Given the description of an element on the screen output the (x, y) to click on. 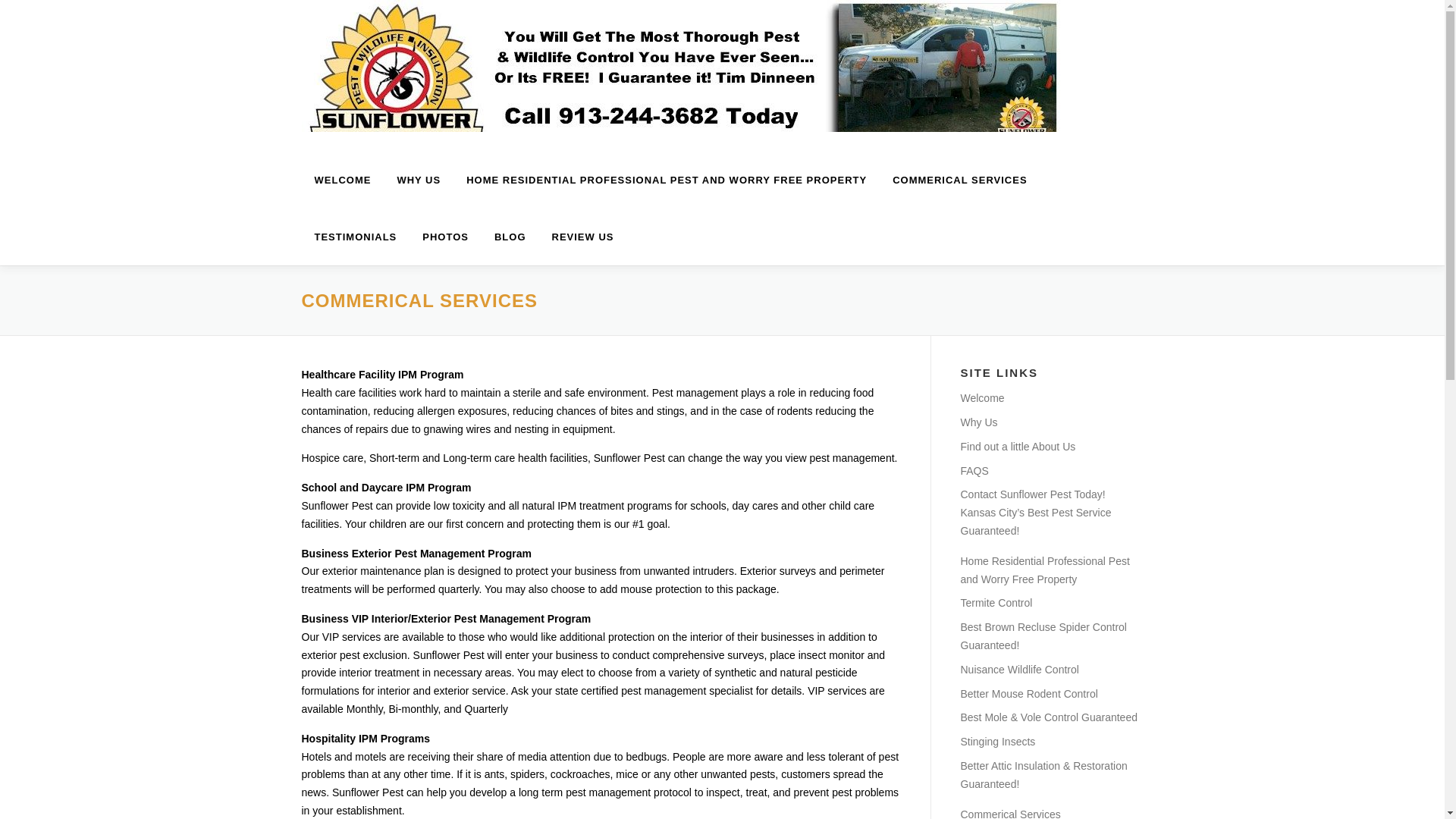
HOME RESIDENTIAL PROFESSIONAL PEST AND WORRY FREE PROPERTY (665, 179)
REVIEW US (576, 236)
Nuisance Wildlife Control (1018, 669)
TESTIMONIALS (355, 236)
WELCOME (342, 179)
Termite Control (995, 603)
Better Mouse Rodent Control (1028, 693)
Stinging Insects (997, 741)
Find out a little About Us (1017, 446)
Welcome (981, 398)
